Given the description of an element on the screen output the (x, y) to click on. 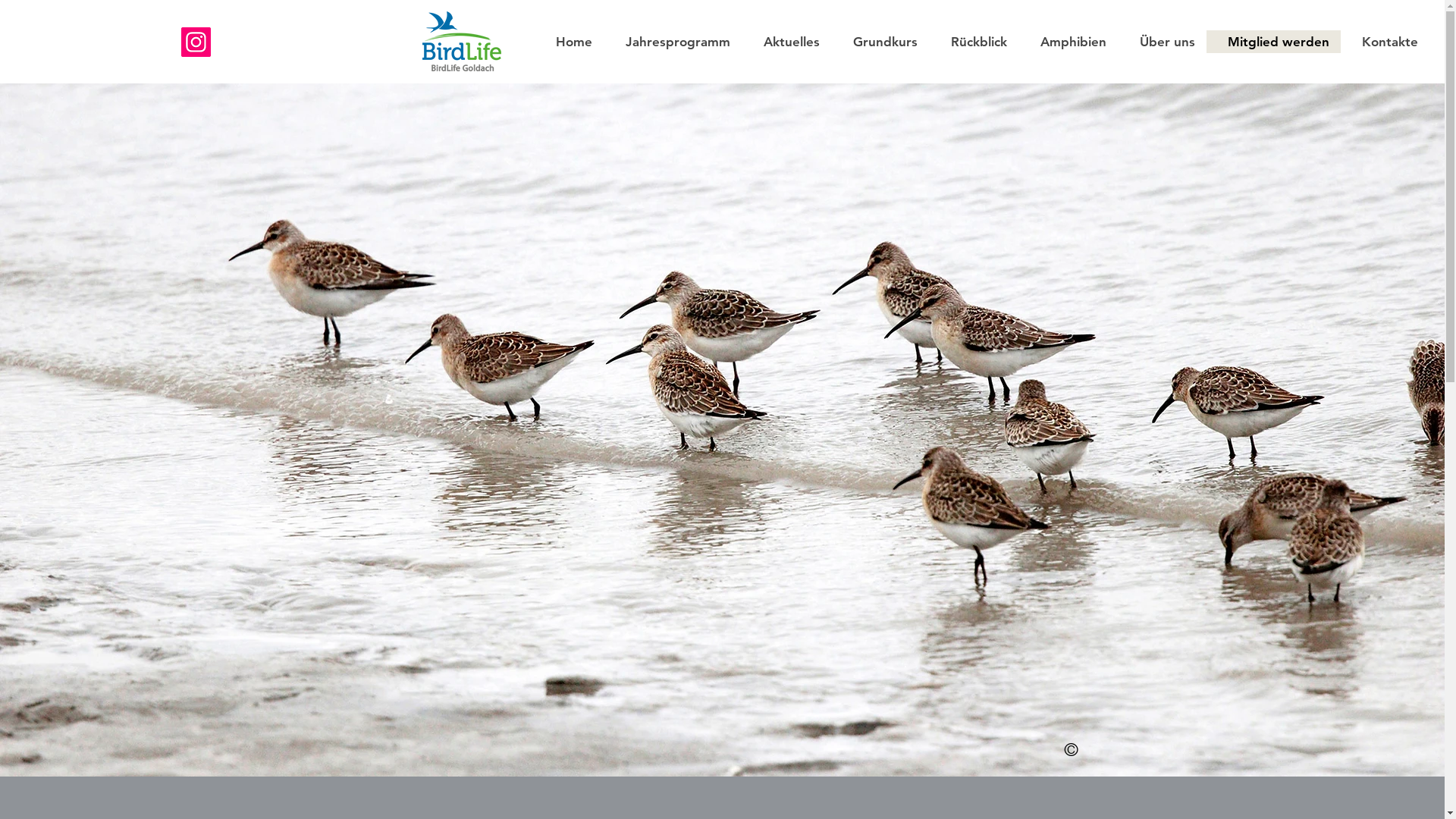
Mitglied werden Element type: text (1273, 41)
Grundkurs Element type: text (879, 41)
Kontakte Element type: text (1384, 41)
Home Element type: text (568, 41)
Jahresprogramm Element type: text (672, 41)
Aktuelles Element type: text (786, 41)
Amphibien Element type: text (1067, 41)
